Given the description of an element on the screen output the (x, y) to click on. 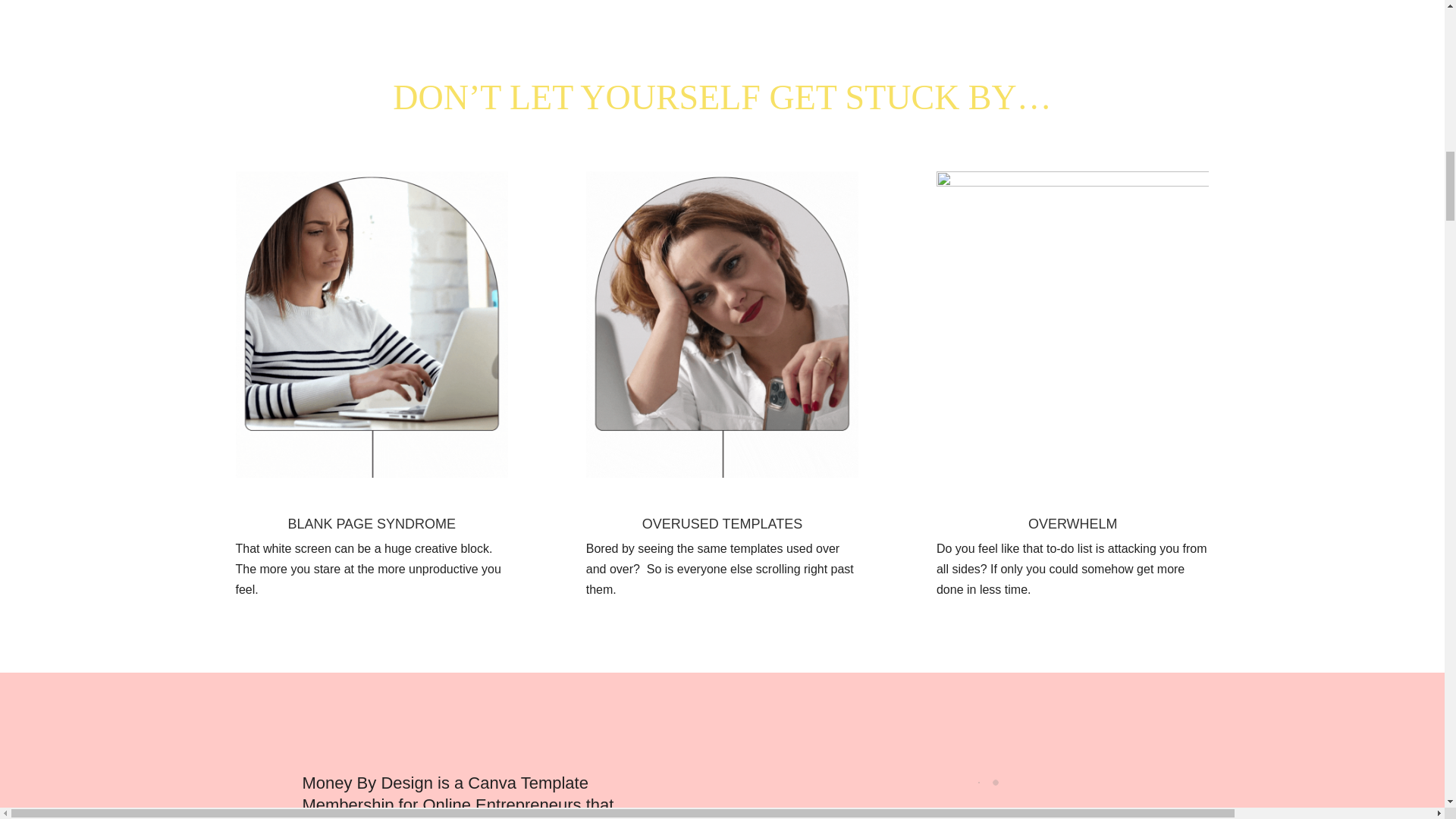
overcome overwhelm with Canva Template Membership (1072, 324)
Overcome the Blank Page with Canva Templates (371, 324)
Stand out with Canva Template Membership (722, 324)
